Given the description of an element on the screen output the (x, y) to click on. 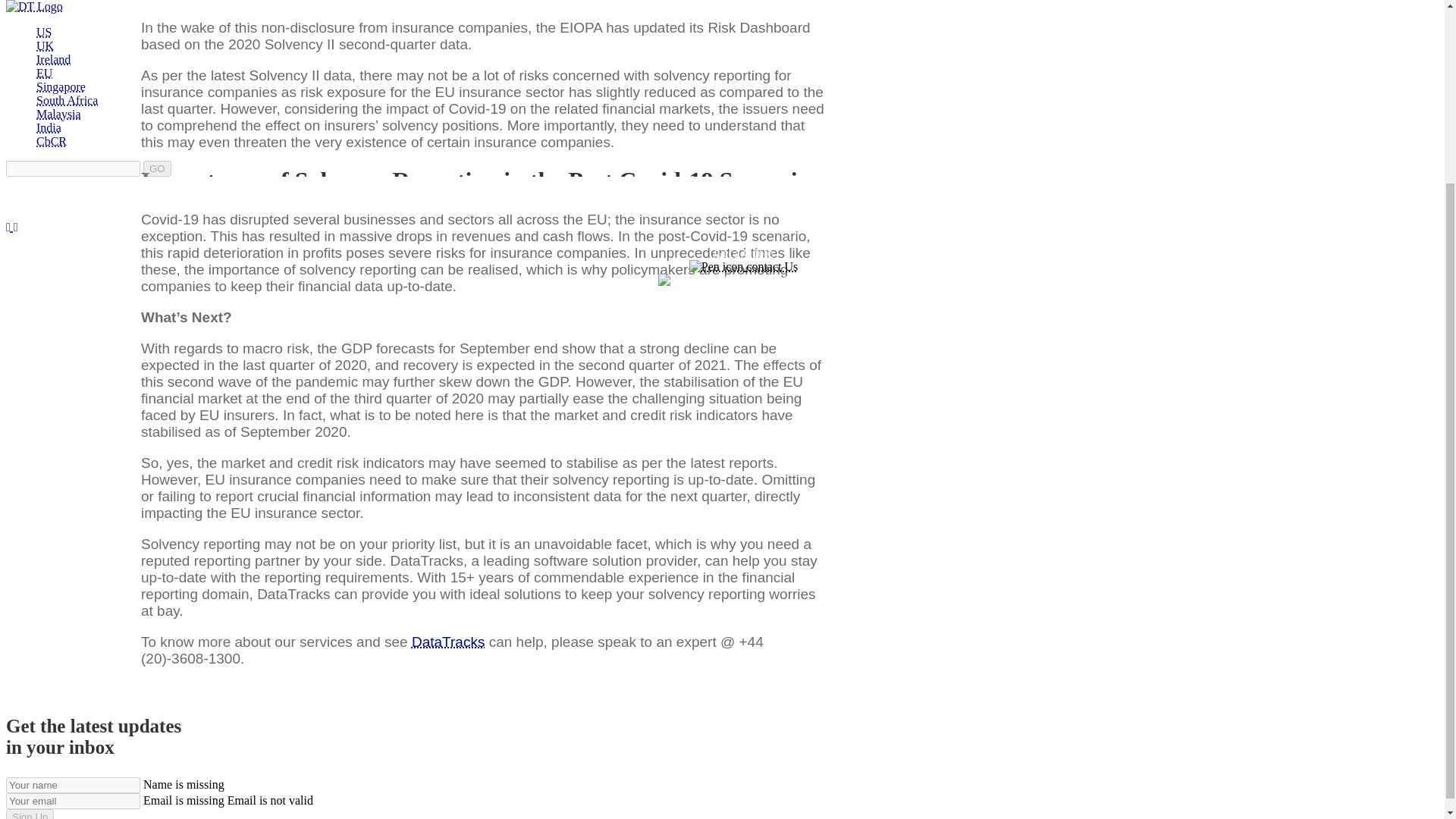
contact Us (742, 36)
Get a Quote (743, 22)
